Given the description of an element on the screen output the (x, y) to click on. 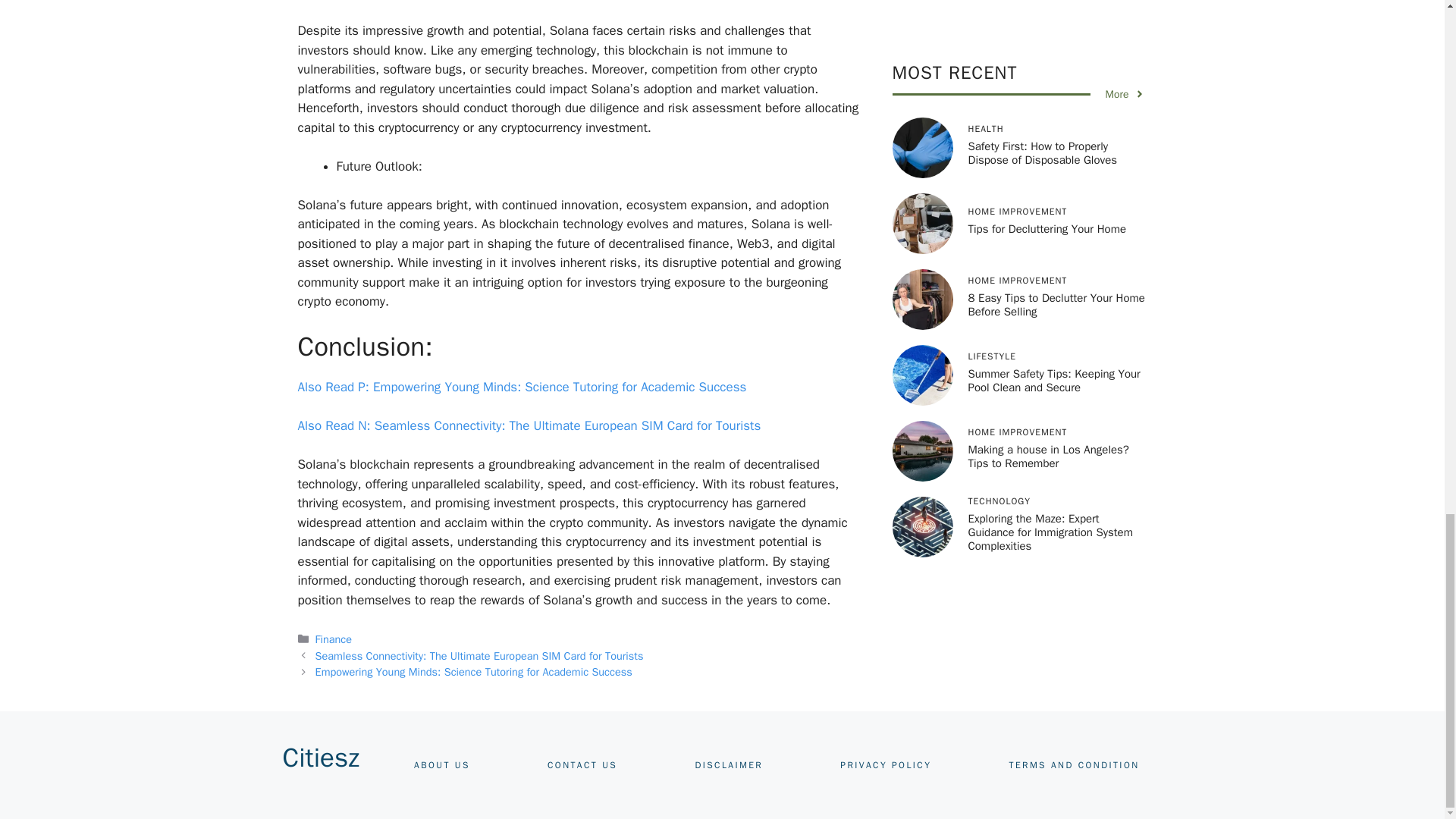
Finance (333, 639)
Citiesz (320, 757)
CONTACT US (582, 765)
ABOUT US (441, 765)
PRIVACY POLICY (885, 765)
DISCLAIMER (728, 765)
TERMS AND CONDITION (1074, 765)
